Given the description of an element on the screen output the (x, y) to click on. 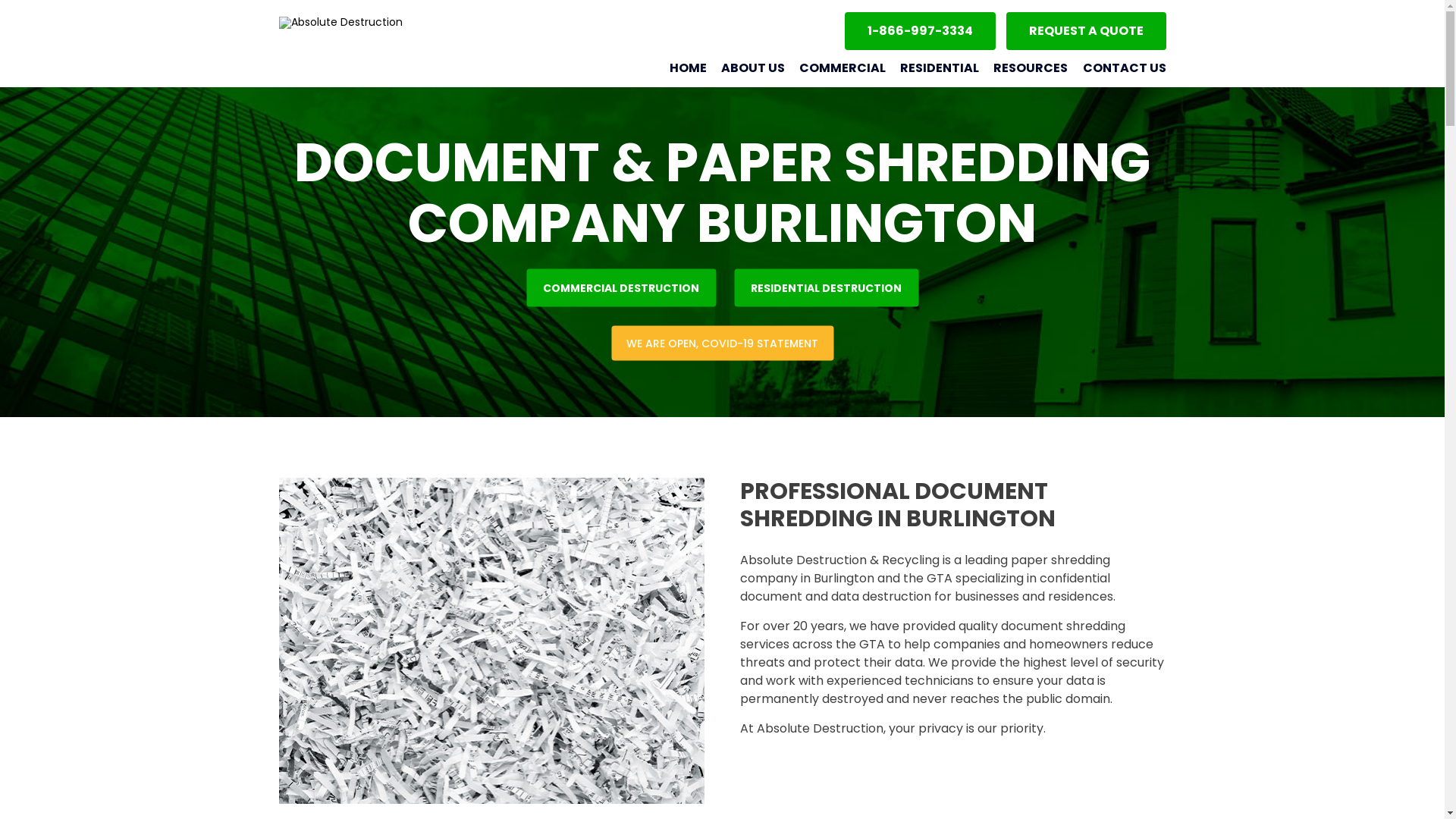
RESIDENTIAL Element type: text (932, 67)
RESOURCES Element type: text (1023, 67)
RESIDENTIAL DESTRUCTION Element type: text (826, 287)
COMMERCIAL Element type: text (834, 67)
WE ARE OPEN, COVID-19 STATEMENT Element type: text (722, 343)
COMMERCIAL DESTRUCTION Element type: text (620, 287)
1-866-997-3334 Element type: text (919, 30)
HOME Element type: text (680, 67)
REQUEST A QUOTE Element type: text (1085, 30)
CONTACT US Element type: text (1116, 67)
ABOUT US Element type: text (745, 67)
